Given the description of an element on the screen output the (x, y) to click on. 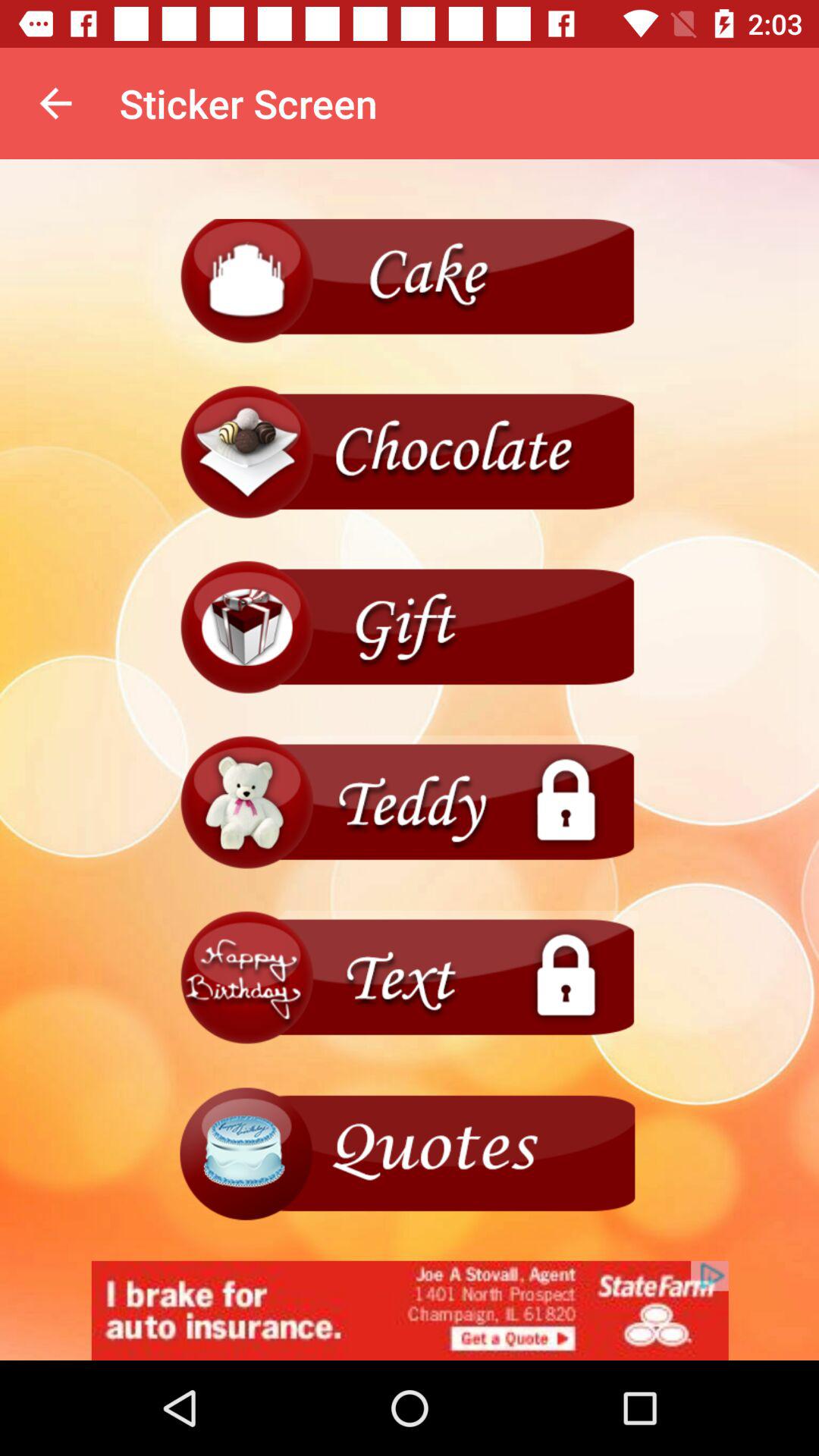
text tab in the sticker section (409, 977)
